Given the description of an element on the screen output the (x, y) to click on. 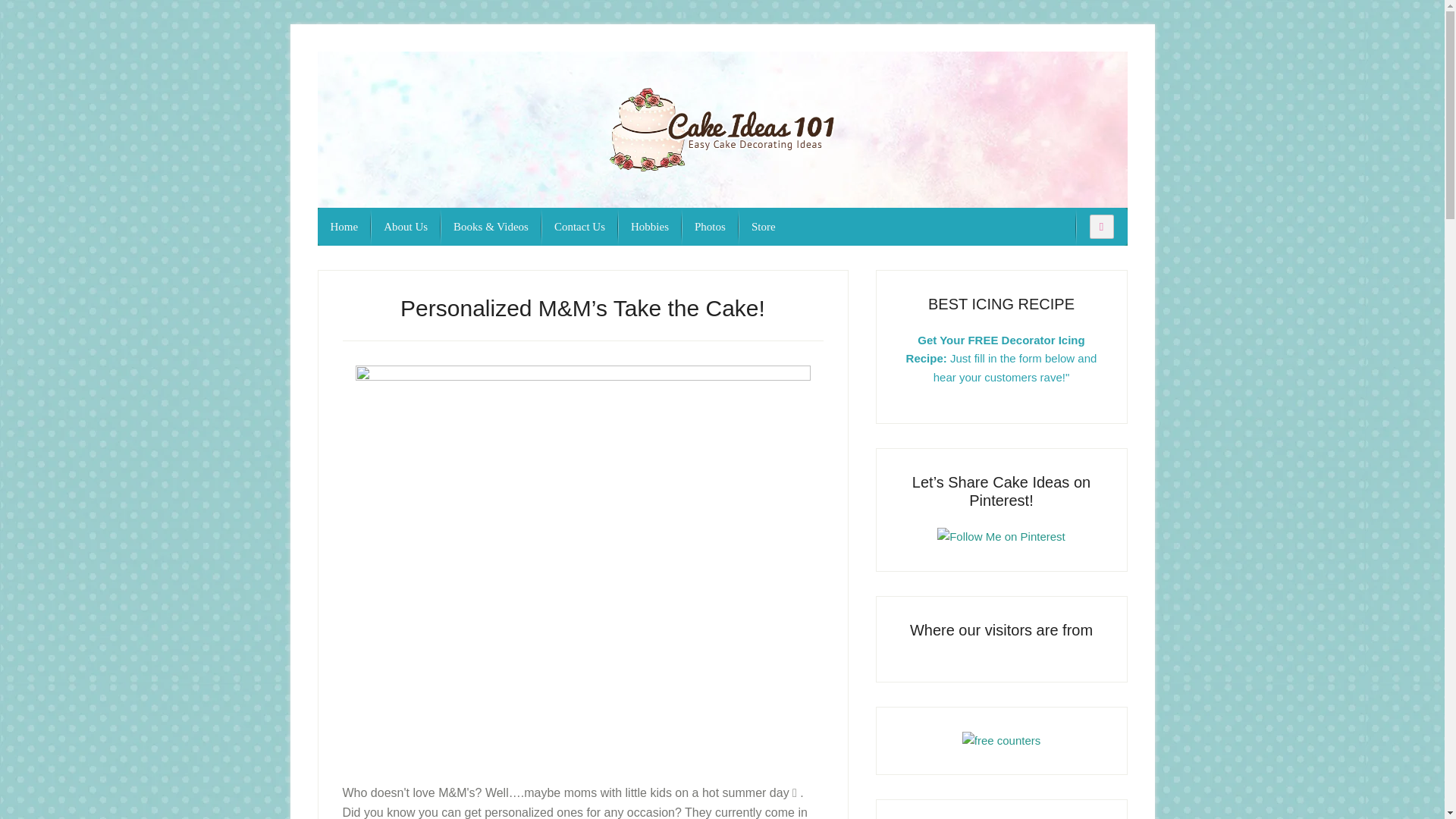
Photos (709, 226)
Hobbies (649, 226)
Cake Ideas 101 (721, 129)
Search (11, 9)
Store (763, 226)
Home (344, 226)
Contact Us (579, 226)
About Us (406, 226)
